Given the description of an element on the screen output the (x, y) to click on. 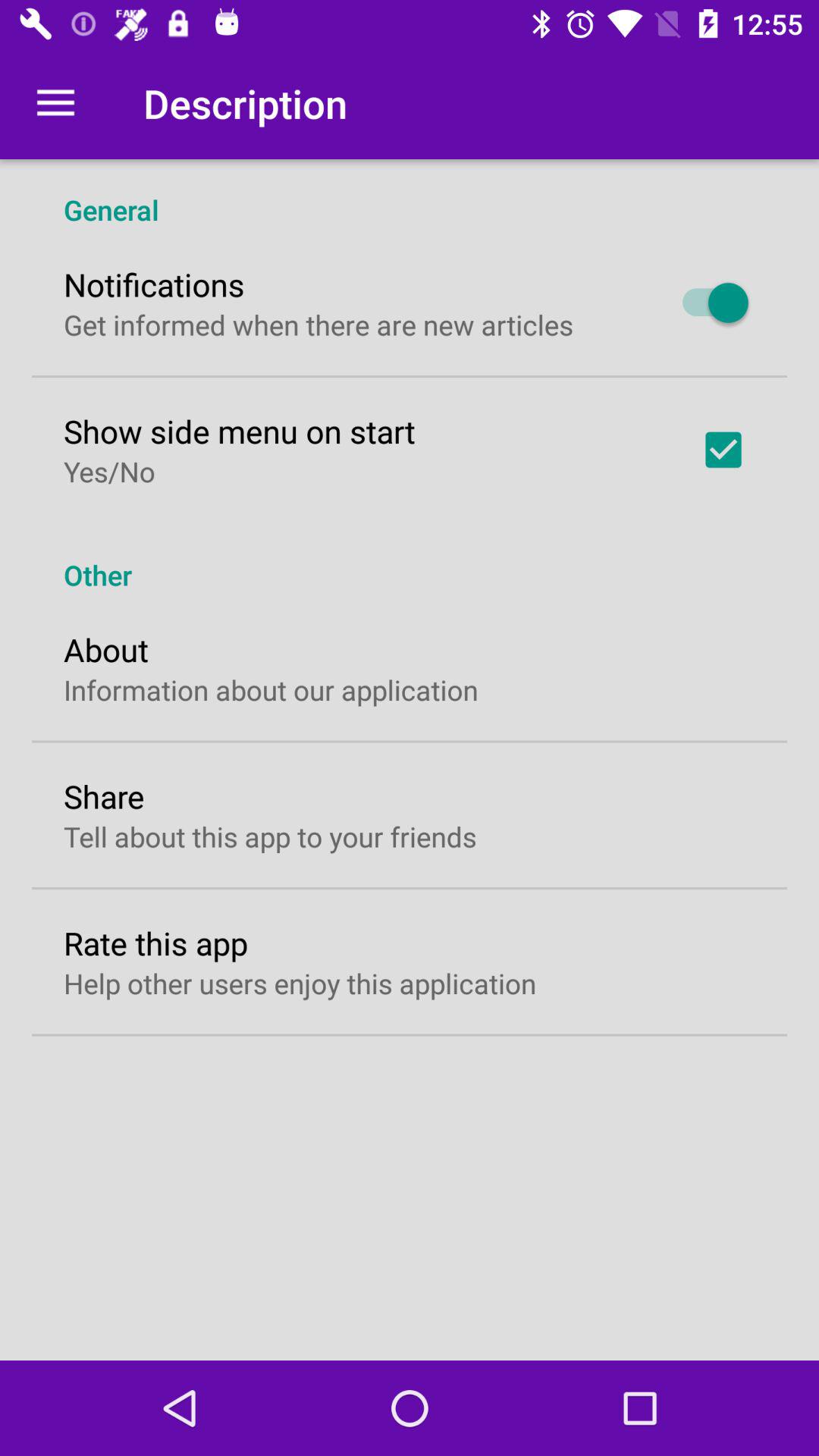
launch icon next to the description (55, 103)
